Given the description of an element on the screen output the (x, y) to click on. 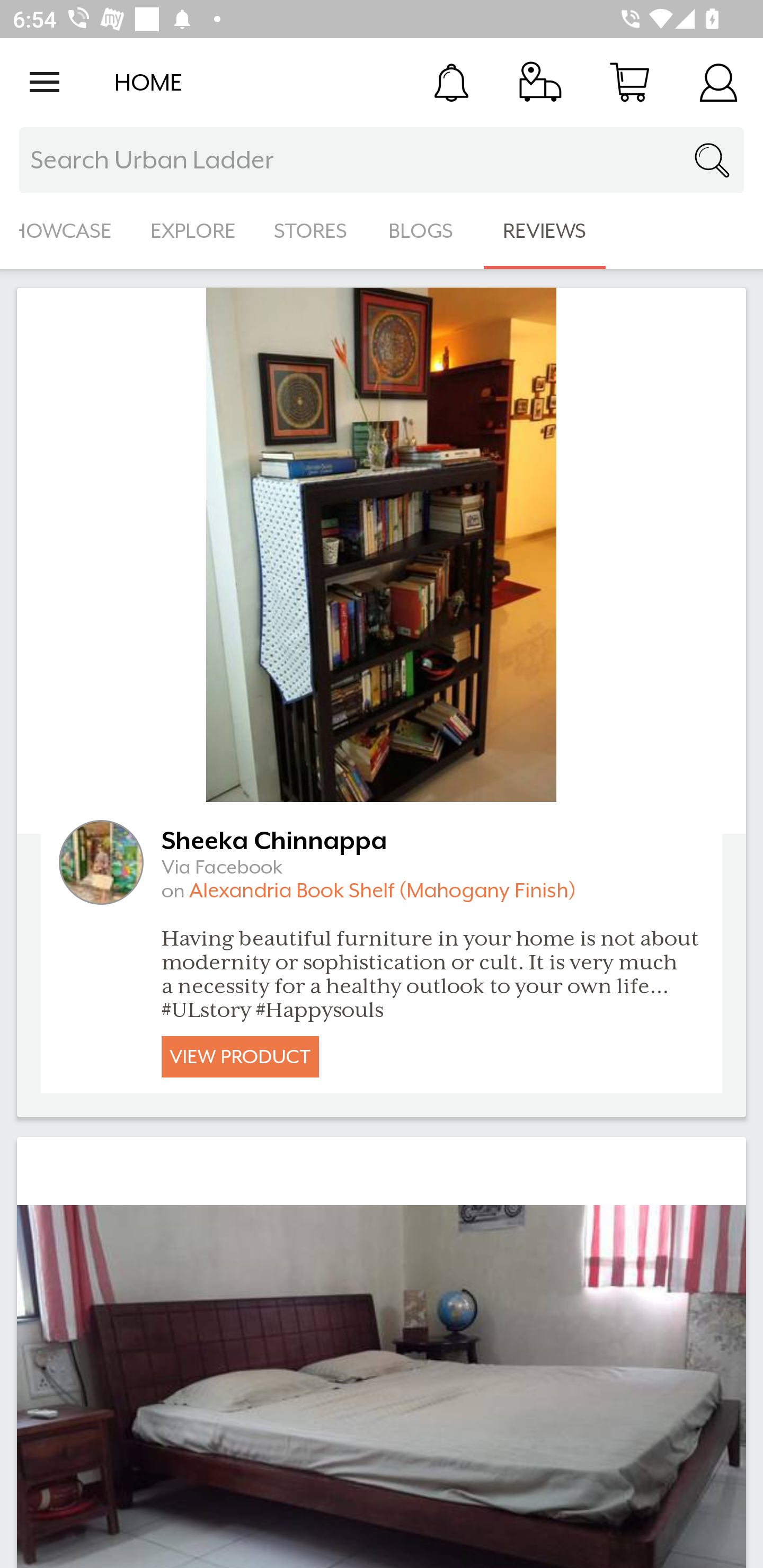
Open navigation drawer (44, 82)
Notification (450, 81)
Track Order (540, 81)
Cart (629, 81)
Account Details (718, 81)
Search Urban Ladder  (381, 159)
SHOWCASE (65, 230)
EXPLORE (192, 230)
STORES (311, 230)
BLOGS (426, 230)
REVIEWS (544, 230)
VIEW PRODUCT (239, 1056)
